Given the description of an element on the screen output the (x, y) to click on. 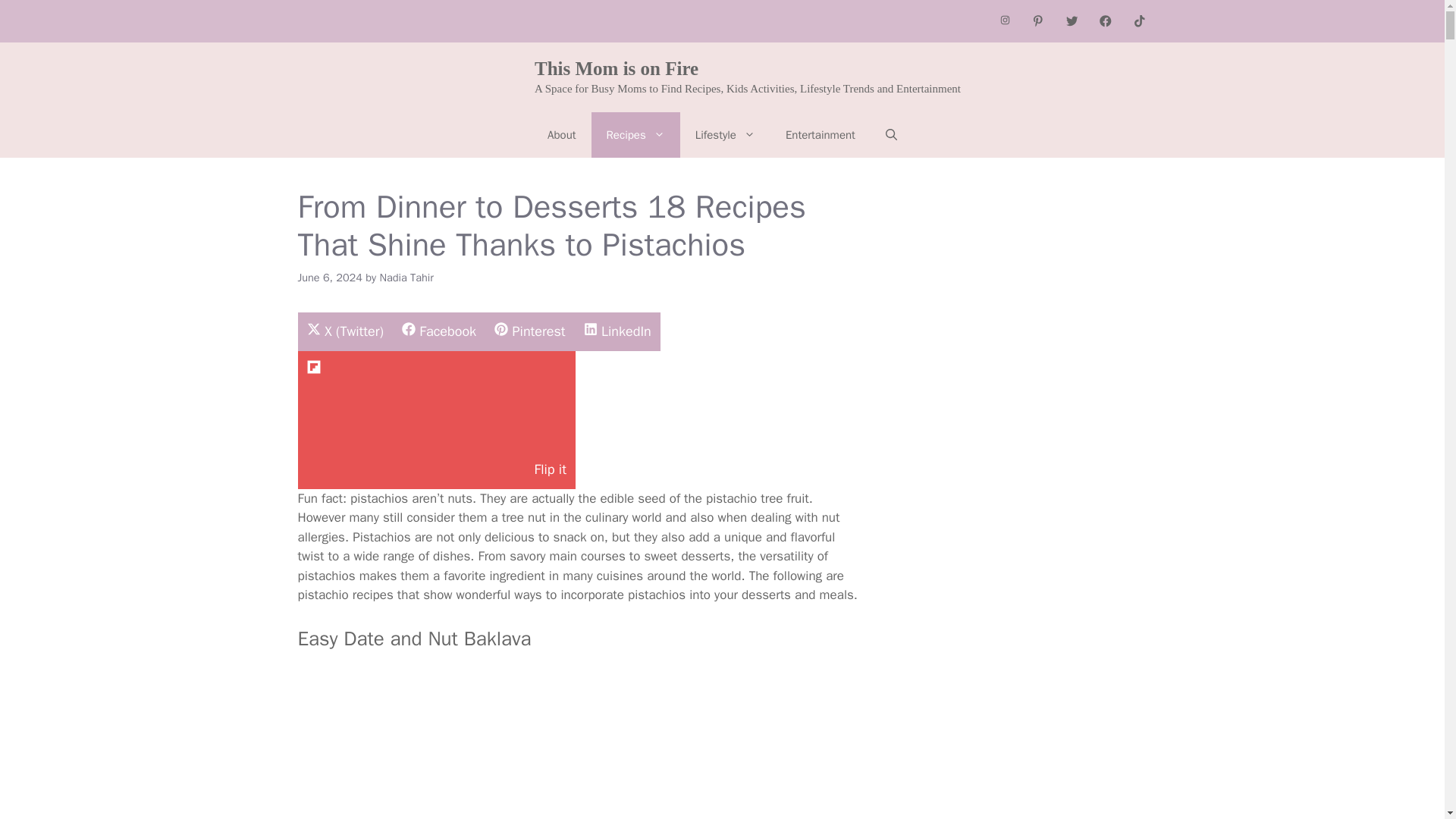
Recipes (635, 135)
View all posts by Nadia Tahir (405, 277)
Entertainment (820, 135)
This Mom is on Fire (616, 68)
flipboard (438, 331)
About (313, 366)
Nadia Tahir (561, 135)
Lifestyle (618, 331)
